Given the description of an element on the screen output the (x, y) to click on. 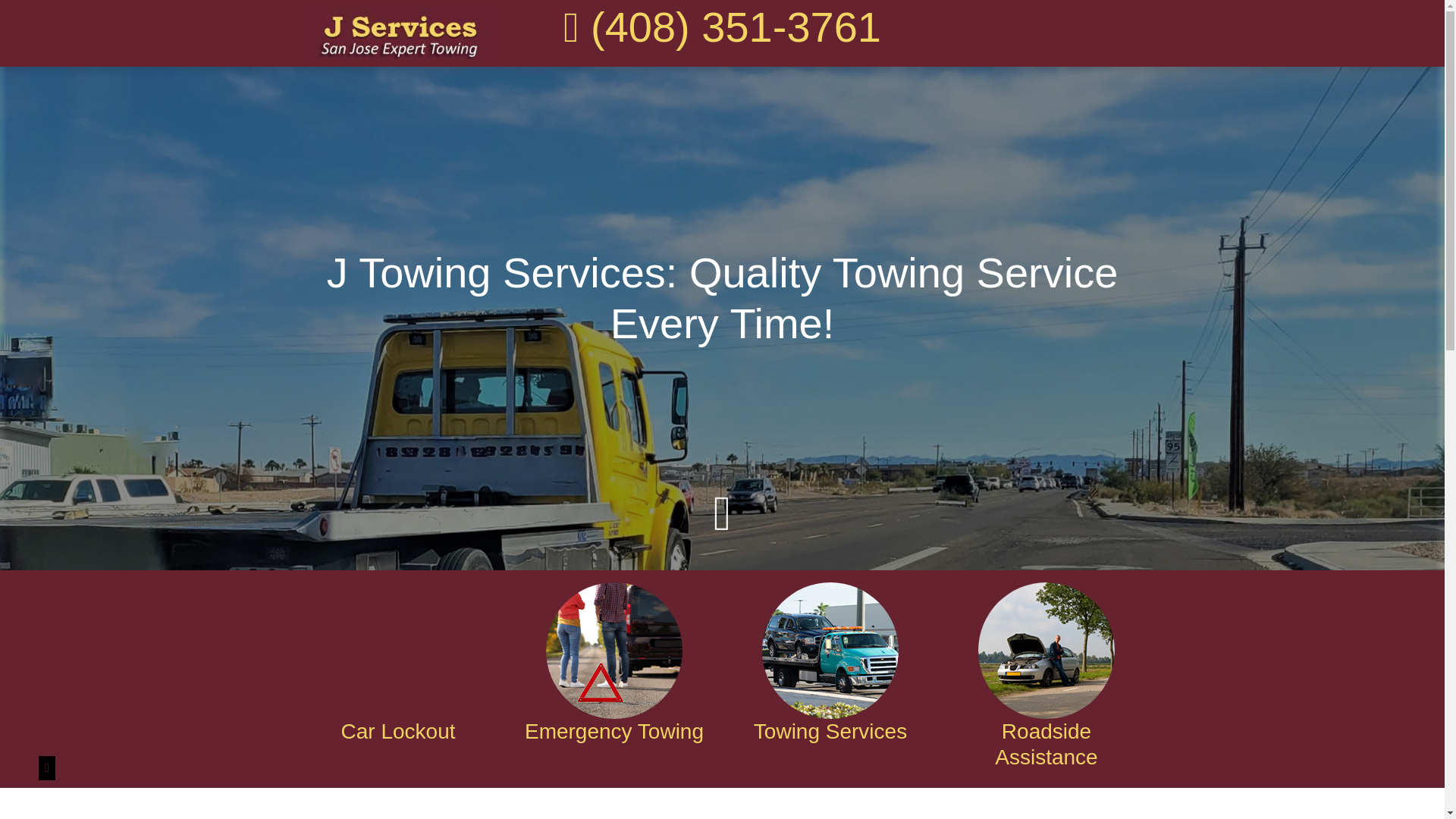
Emergency Towing (613, 731)
Roadside Assistance (1045, 744)
Towing Services (830, 731)
Car Lockout (398, 731)
